Given the description of an element on the screen output the (x, y) to click on. 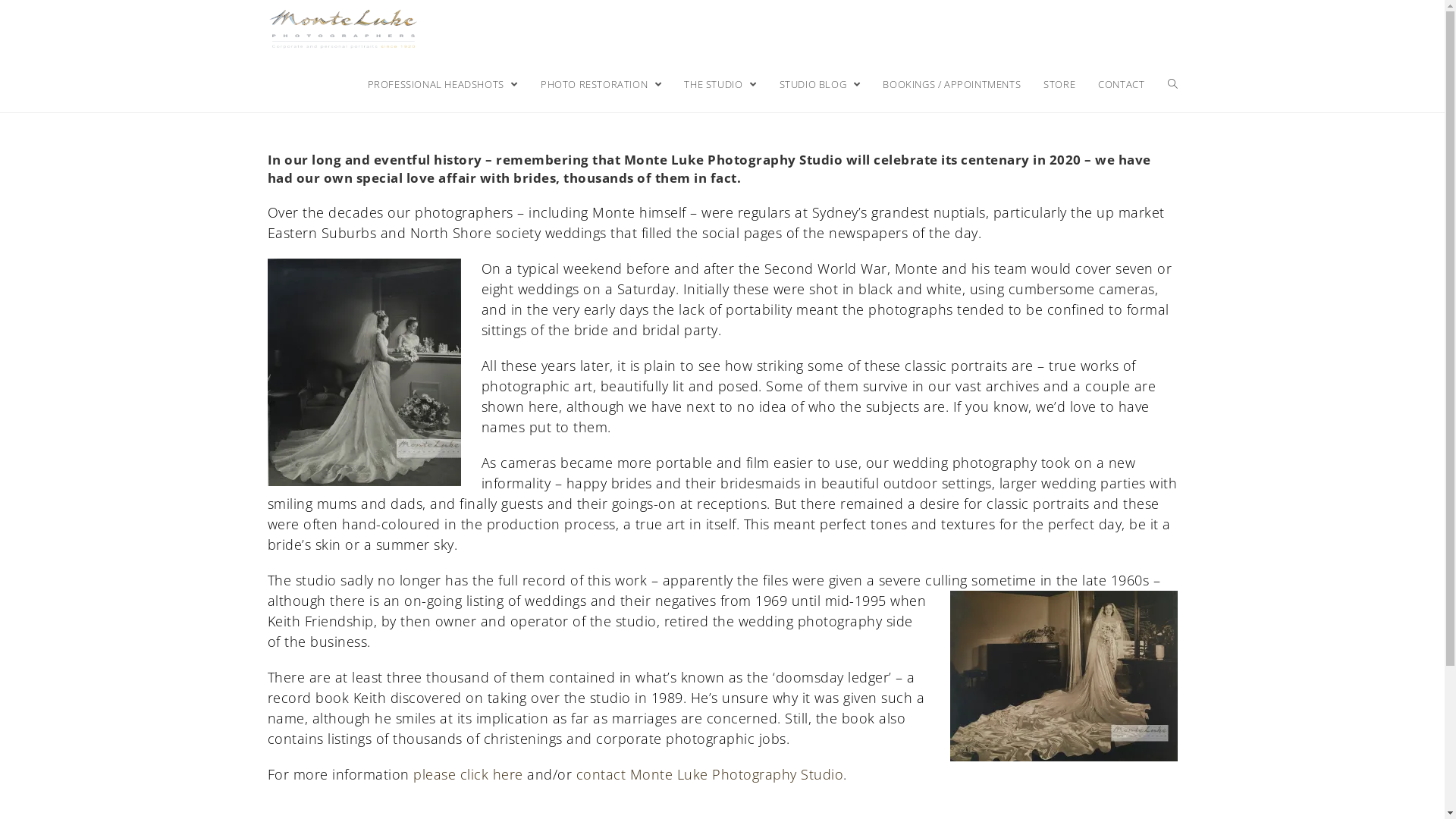
PHOTO RESTORATION Element type: text (600, 84)
THE STUDIO Element type: text (719, 84)
please click here Element type: text (468, 774)
PROFESSIONAL HEADSHOTS Element type: text (442, 84)
STORE Element type: text (1059, 84)
CONTACT Element type: text (1120, 84)
STUDIO BLOG Element type: text (820, 84)
BOOKINGS / APPOINTMENTS Element type: text (951, 84)
contact Monte Luke Photography Studio Element type: text (710, 774)
